Given the description of an element on the screen output the (x, y) to click on. 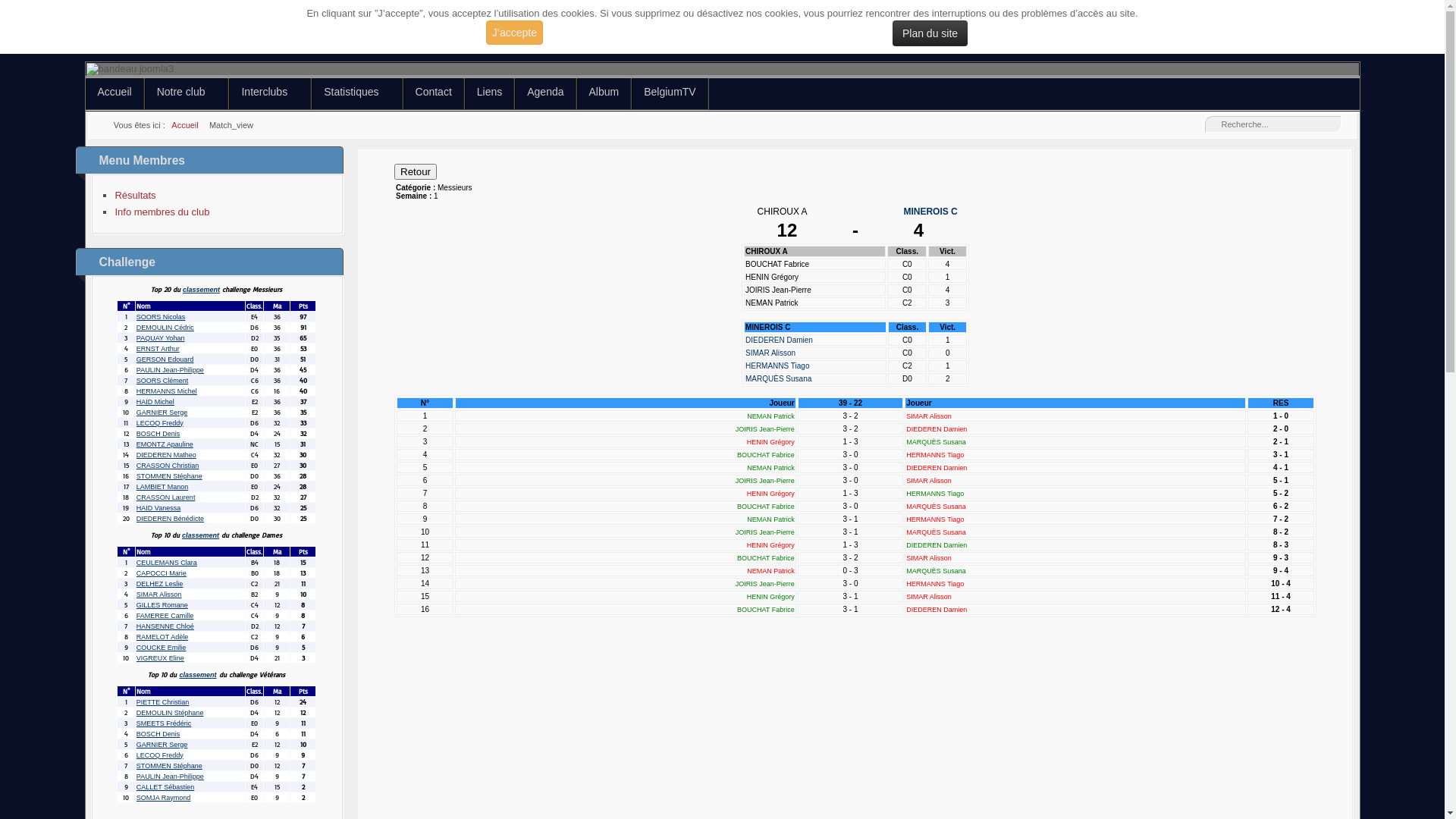
Liens Element type: text (489, 93)
BelgiumTV Element type: text (669, 93)
Plan du site Element type: text (929, 33)
Info membres du club Element type: text (161, 211)
Accueil Element type: text (184, 124)
Contact Element type: text (433, 93)
Statistiques Element type: text (356, 93)
Album Element type: text (604, 93)
Accueil Element type: text (113, 93)
Agenda Element type: text (544, 93)
Notre club Element type: text (186, 93)
Interclubs Element type: text (269, 93)
